Given the description of an element on the screen output the (x, y) to click on. 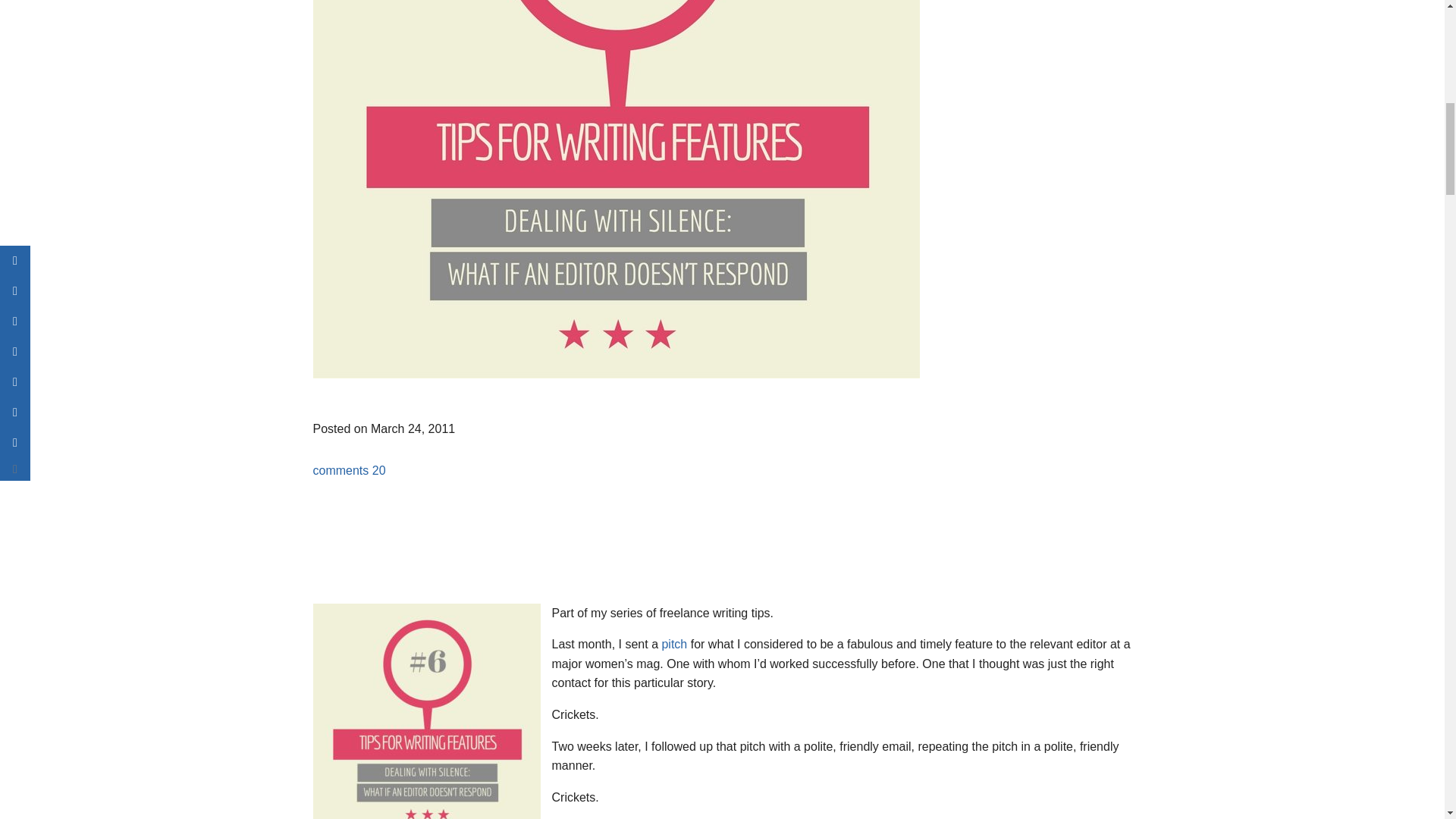
comments 20 (349, 470)
pitch (674, 644)
